Given the description of an element on the screen output the (x, y) to click on. 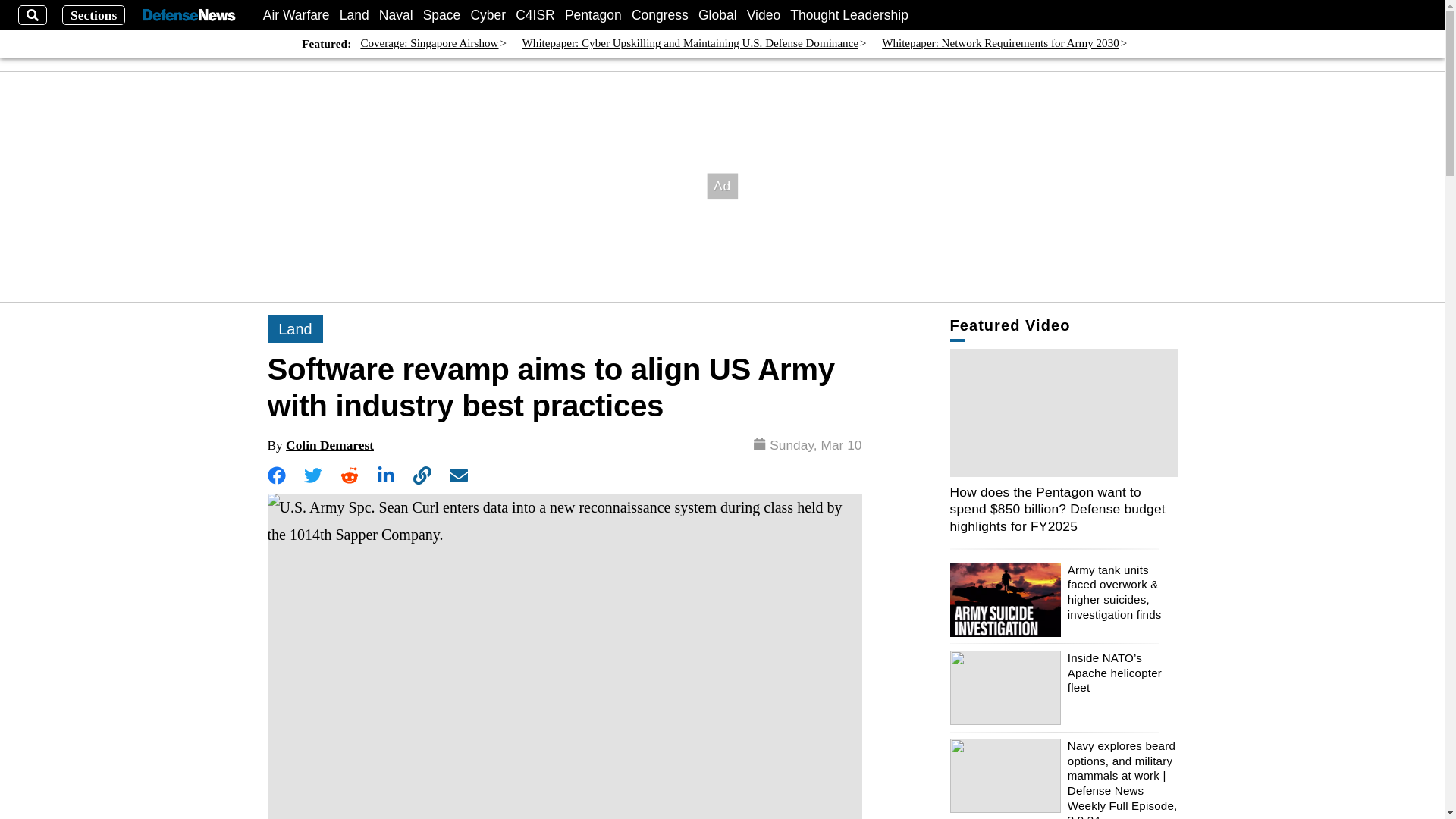
Defense News Logo (188, 14)
Pentagon (592, 14)
Congress (659, 14)
Naval (395, 14)
Space (442, 14)
Video (763, 14)
Sections (93, 14)
Land (354, 14)
Air Warfare (296, 14)
Global (717, 14)
